Given the description of an element on the screen output the (x, y) to click on. 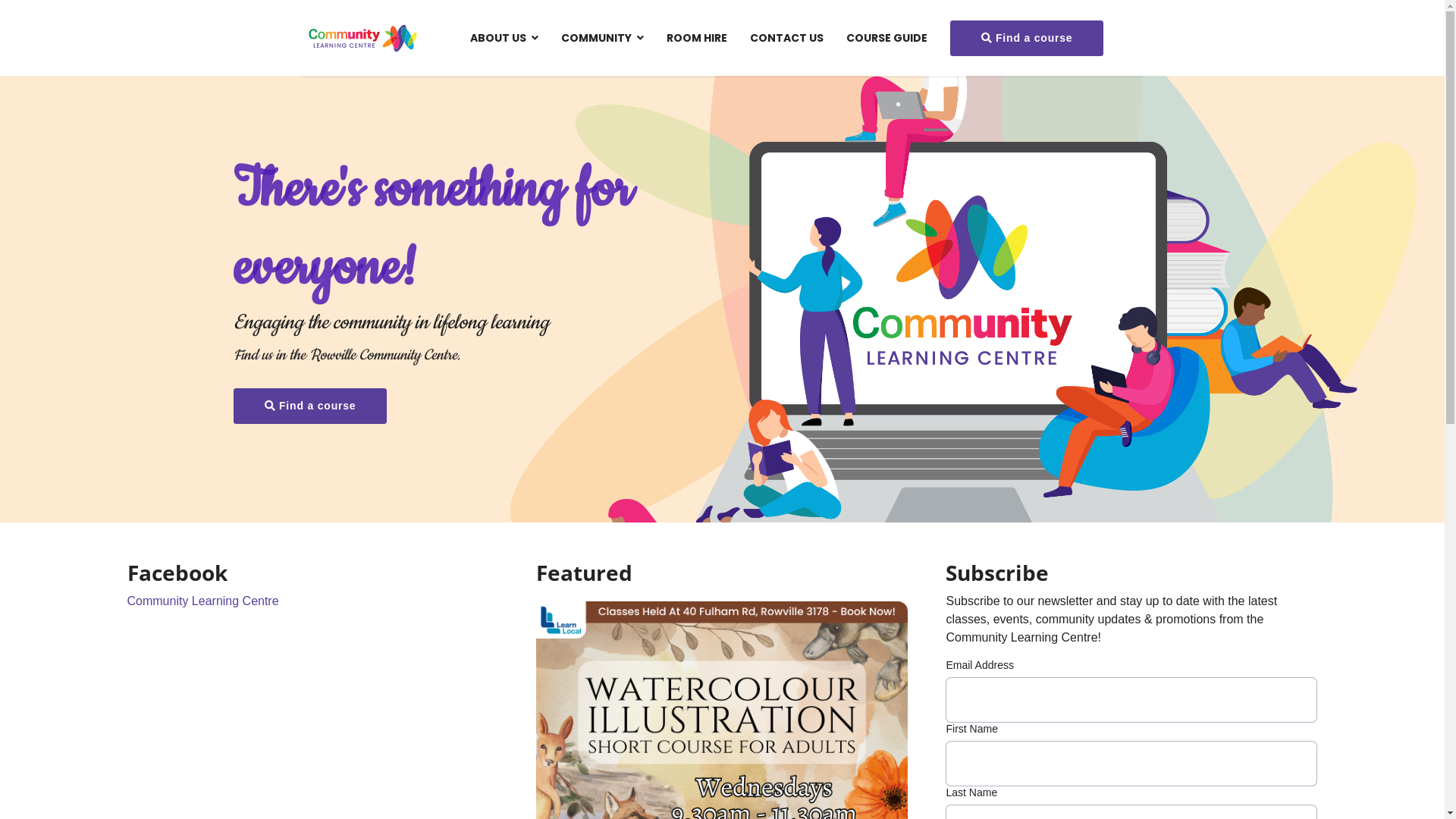
ROOM HIRE Element type: text (696, 37)
Find a course Element type: text (1026, 38)
CONTACT US Element type: text (786, 37)
Community Learning Centre Element type: text (203, 600)
COURSE GUIDE Element type: text (886, 37)
Find a course Element type: text (310, 405)
ABOUT US Element type: text (503, 37)
COMMUNITY Element type: text (601, 37)
